Given the description of an element on the screen output the (x, y) to click on. 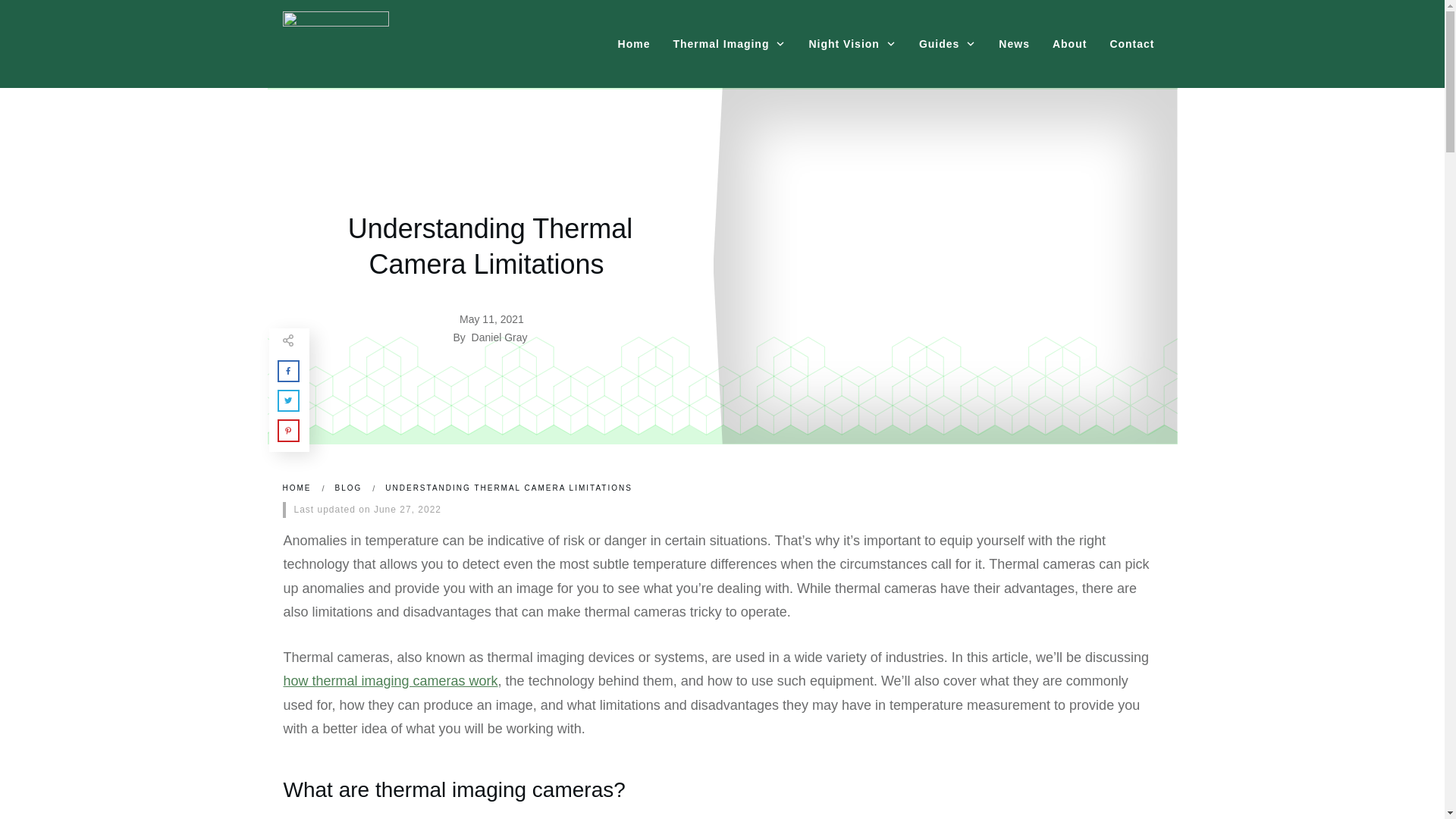
Home (633, 43)
Guides (946, 43)
Thermal Imaging (729, 43)
Night Vision (851, 43)
